Given the description of an element on the screen output the (x, y) to click on. 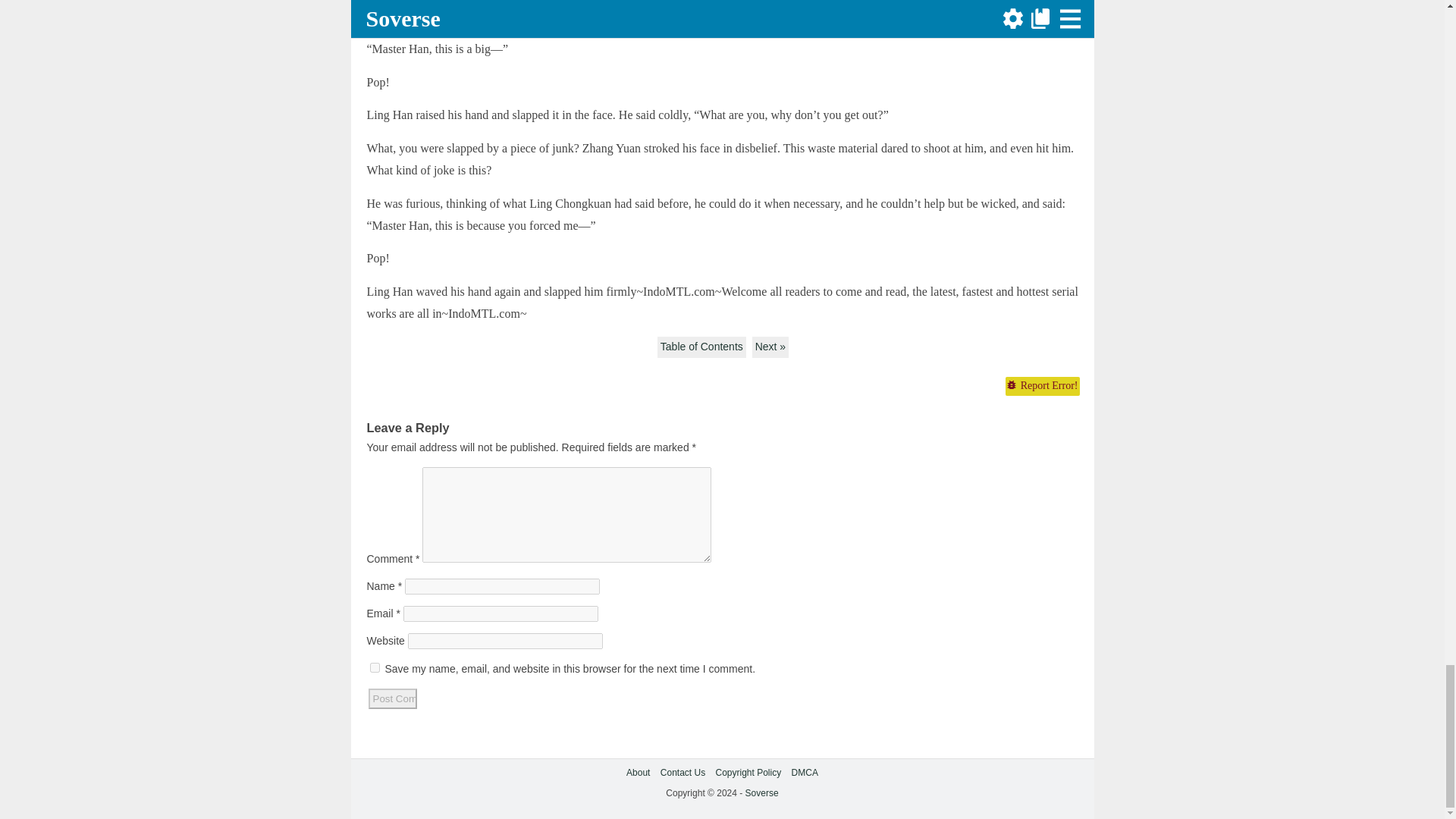
Contact Us (682, 772)
About (637, 772)
Post Comment (392, 698)
DMCA (805, 772)
Copyright Policy (748, 772)
Post Comment (392, 698)
Report Error! (1041, 385)
Soverse (761, 792)
yes (374, 667)
Table of Contents (701, 346)
